Given the description of an element on the screen output the (x, y) to click on. 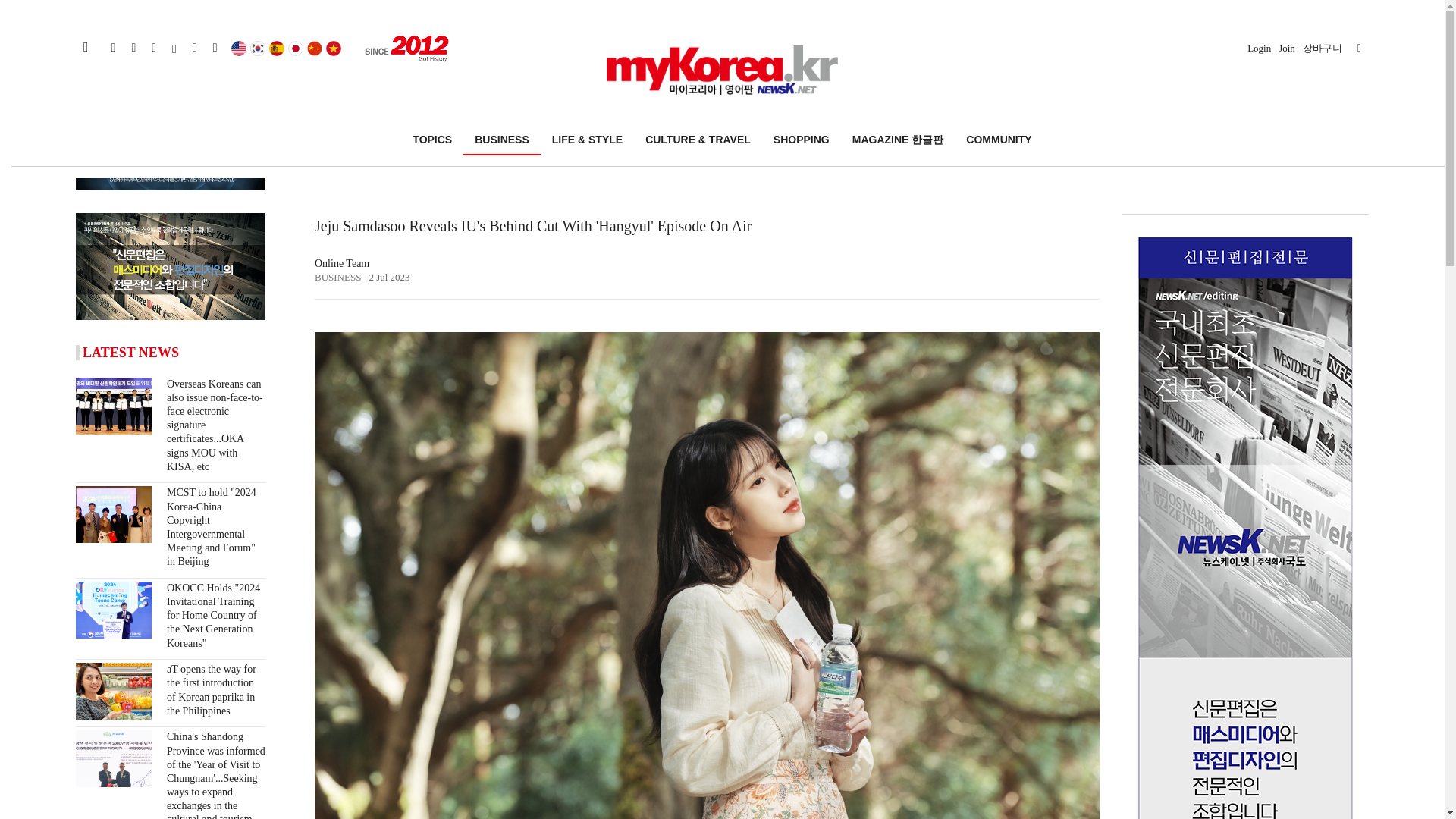
site search (169, 47)
